Given the description of an element on the screen output the (x, y) to click on. 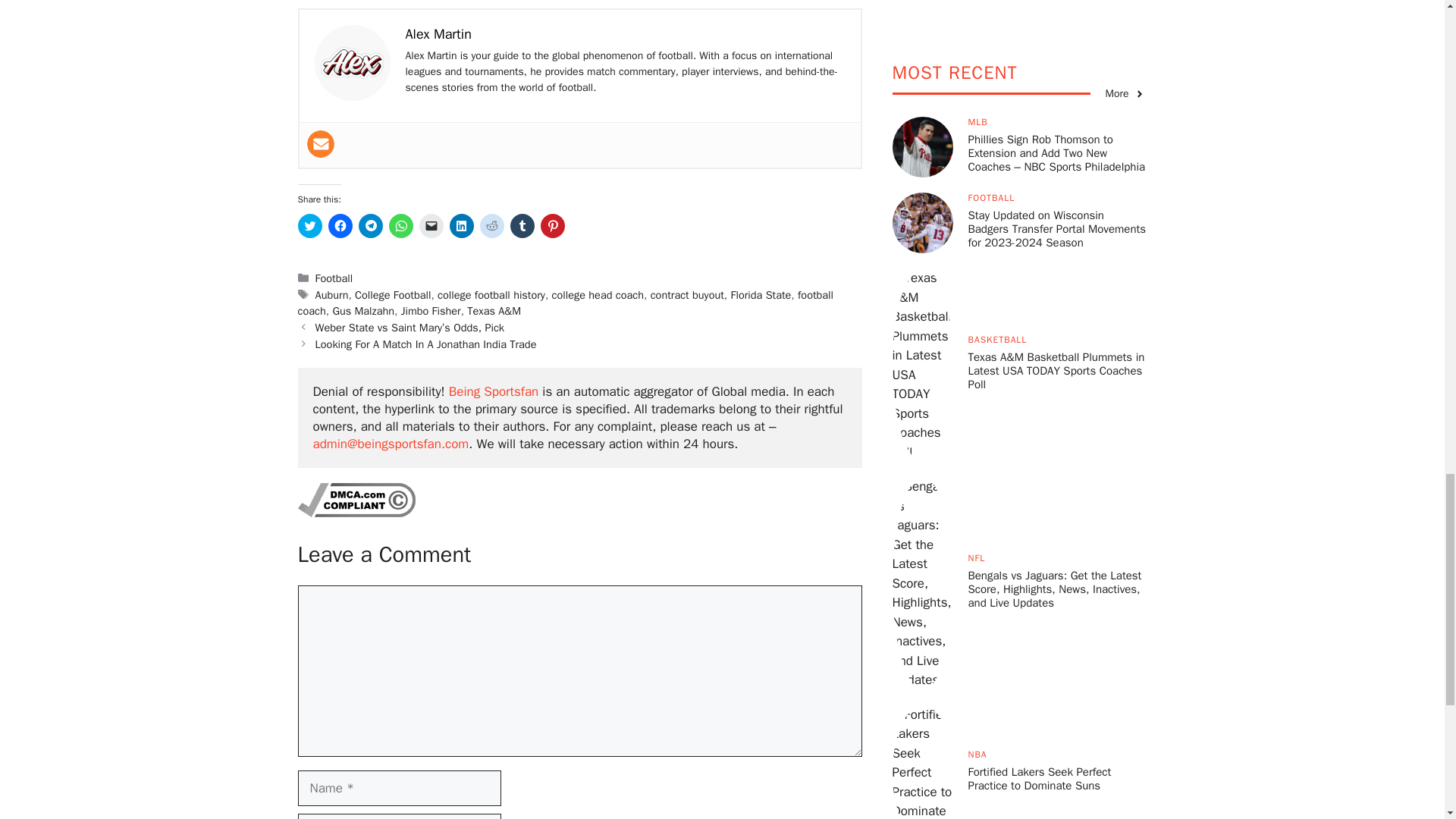
Click to share on Telegram (369, 225)
Click to share on Twitter (309, 225)
Auburn (332, 295)
College Football (392, 295)
Click to email a link to a friend (430, 225)
Click to share on WhatsApp (400, 225)
Football (334, 278)
Alex Martin (437, 33)
college football history (491, 295)
User email (319, 144)
Click to share on Facebook (339, 225)
